Given the description of an element on the screen output the (x, y) to click on. 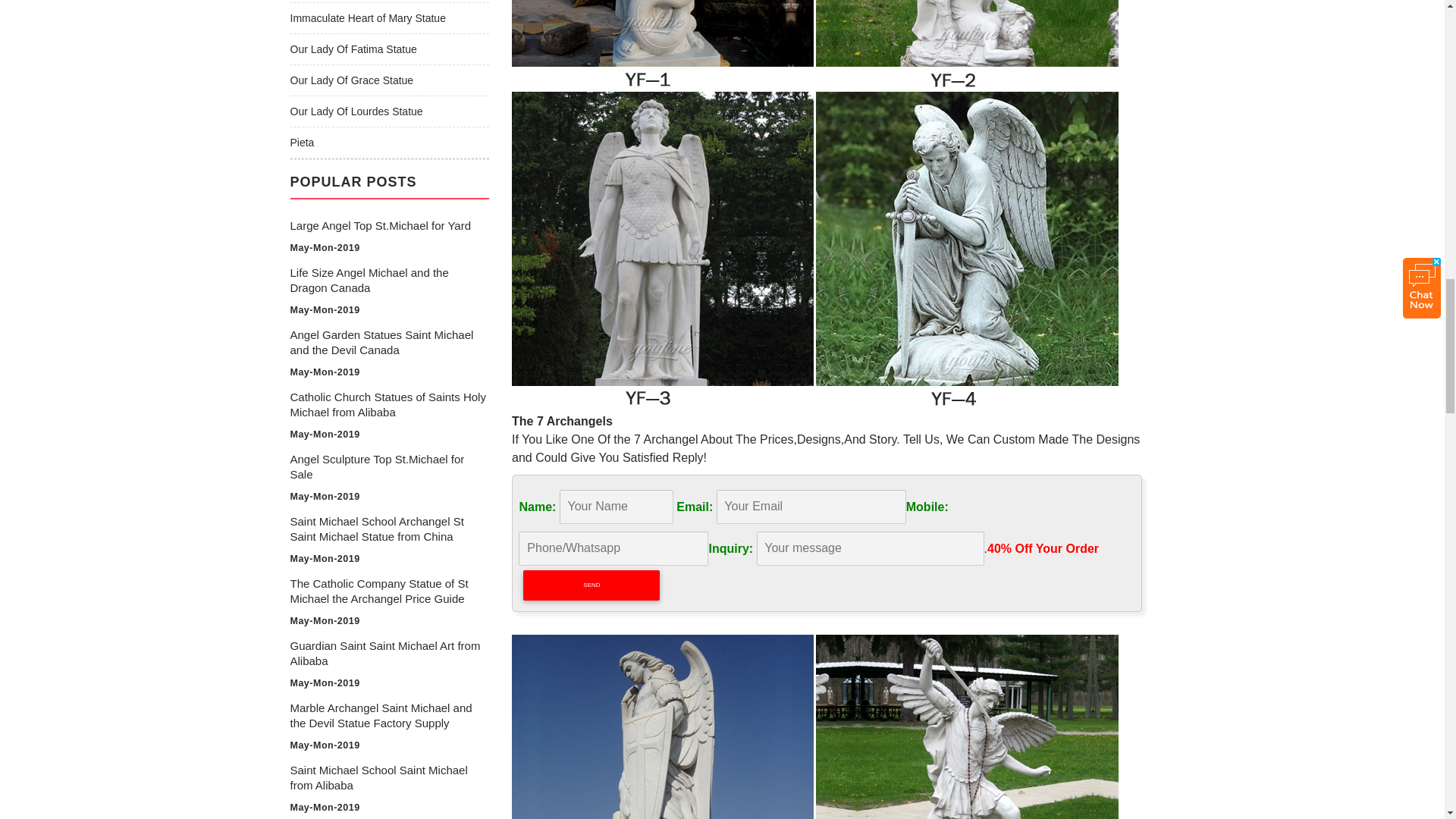
Send (590, 585)
outdoor Catholic Seven Archangel Statue for sale (815, 726)
Send (590, 585)
